Given the description of an element on the screen output the (x, y) to click on. 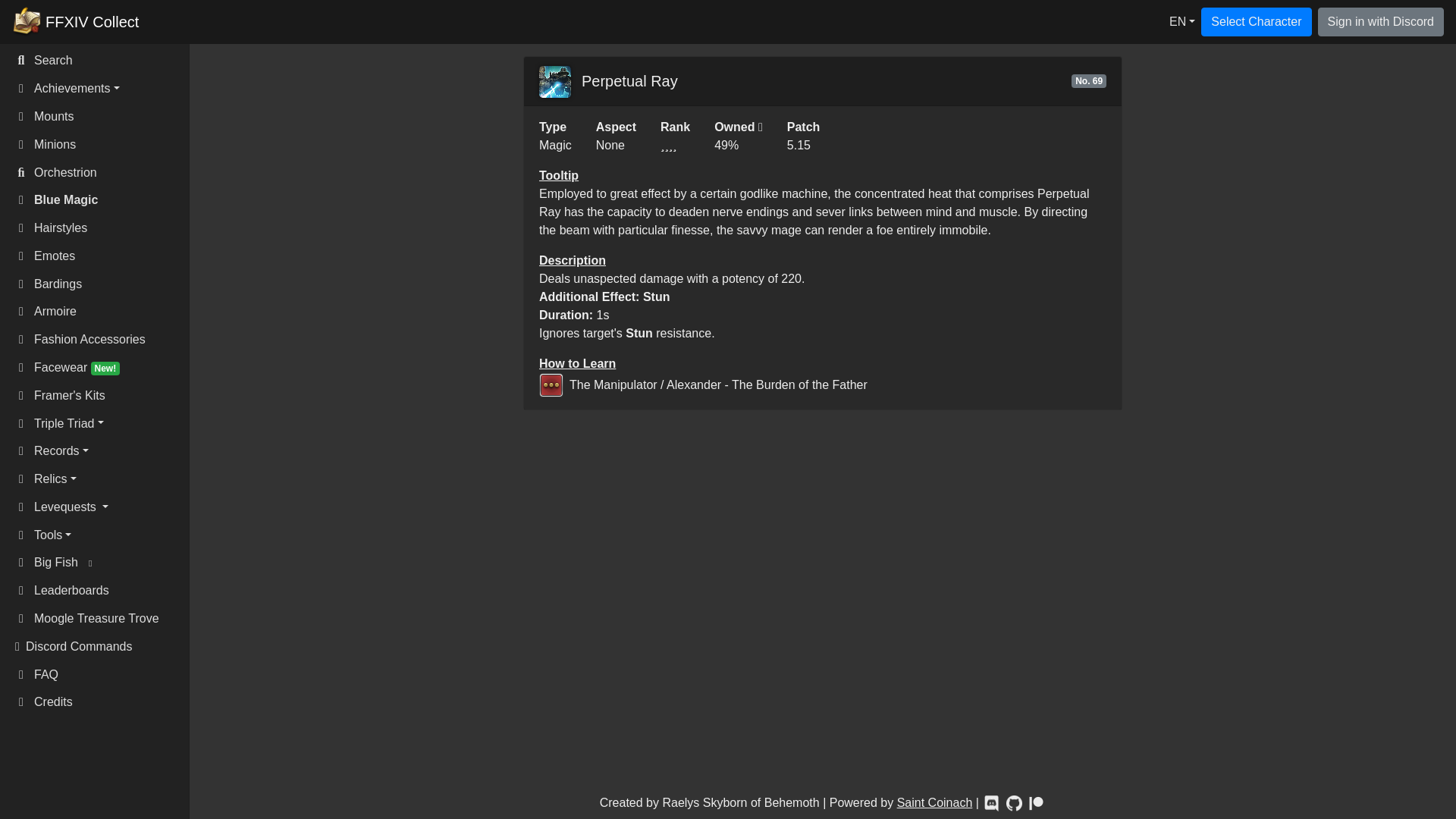
Mounts (100, 117)
Search (100, 60)
Minions (100, 144)
Bardings (100, 284)
Armoire (100, 311)
Select Character (1256, 21)
FFXIV Collect (74, 21)
Orchestrion (100, 172)
Framer's Kits (100, 395)
Achievements (100, 89)
Hairstyles (100, 228)
Fashion Accessories (100, 339)
Facewear New! (100, 367)
Emotes (100, 255)
EN (1182, 22)
